Given the description of an element on the screen output the (x, y) to click on. 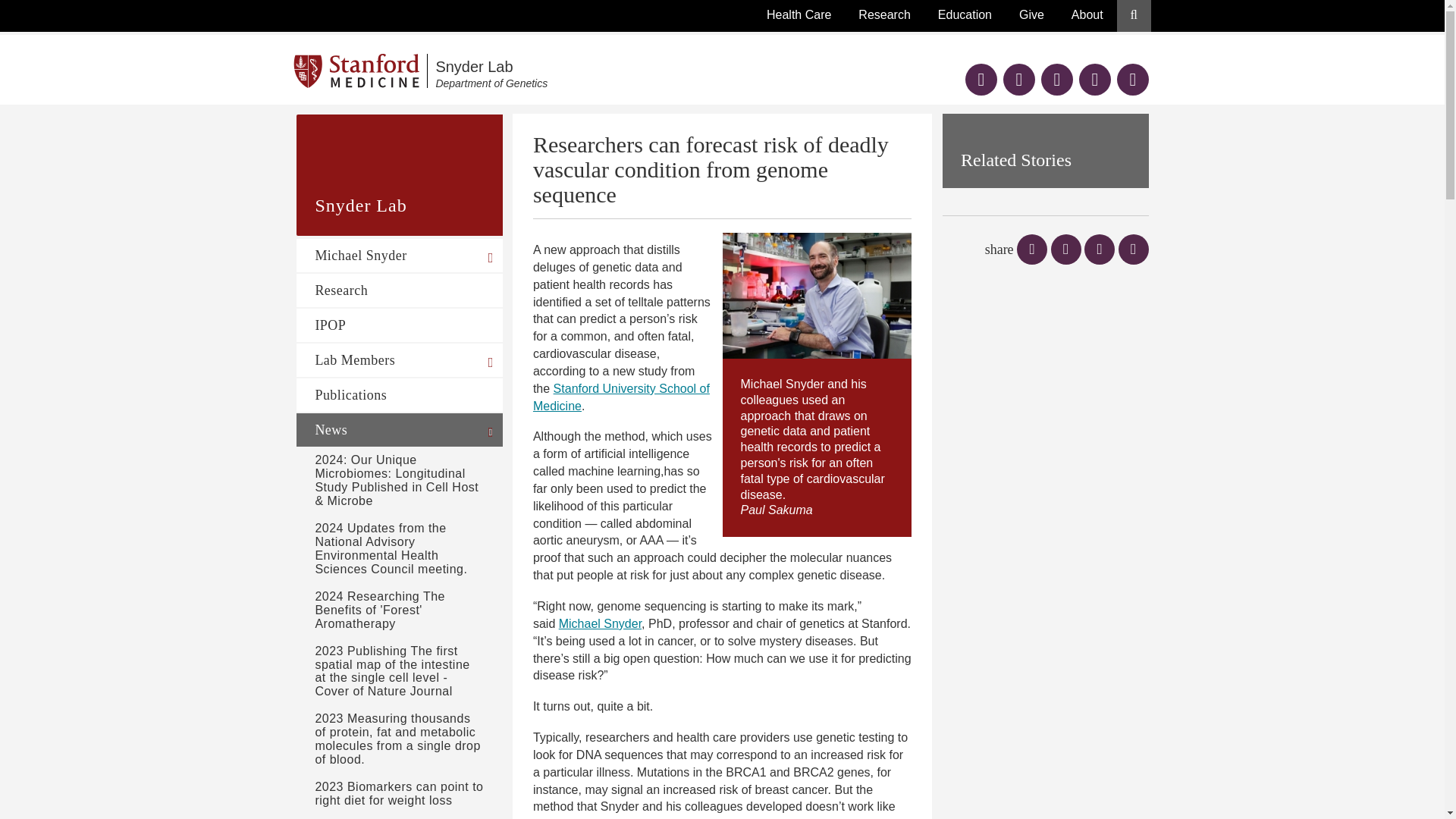
Share on Facebook (1067, 249)
See us on linkedin (616, 71)
See us on youtube (1057, 81)
Share via Email (1132, 81)
Skip to Content (1033, 249)
See us on twitter (1133, 249)
Stanford Medicine (981, 81)
image.img.620.high  (361, 70)
See us on facebook (816, 295)
See us on instagram (1094, 81)
Share on Twitter (1019, 81)
